Given the description of an element on the screen output the (x, y) to click on. 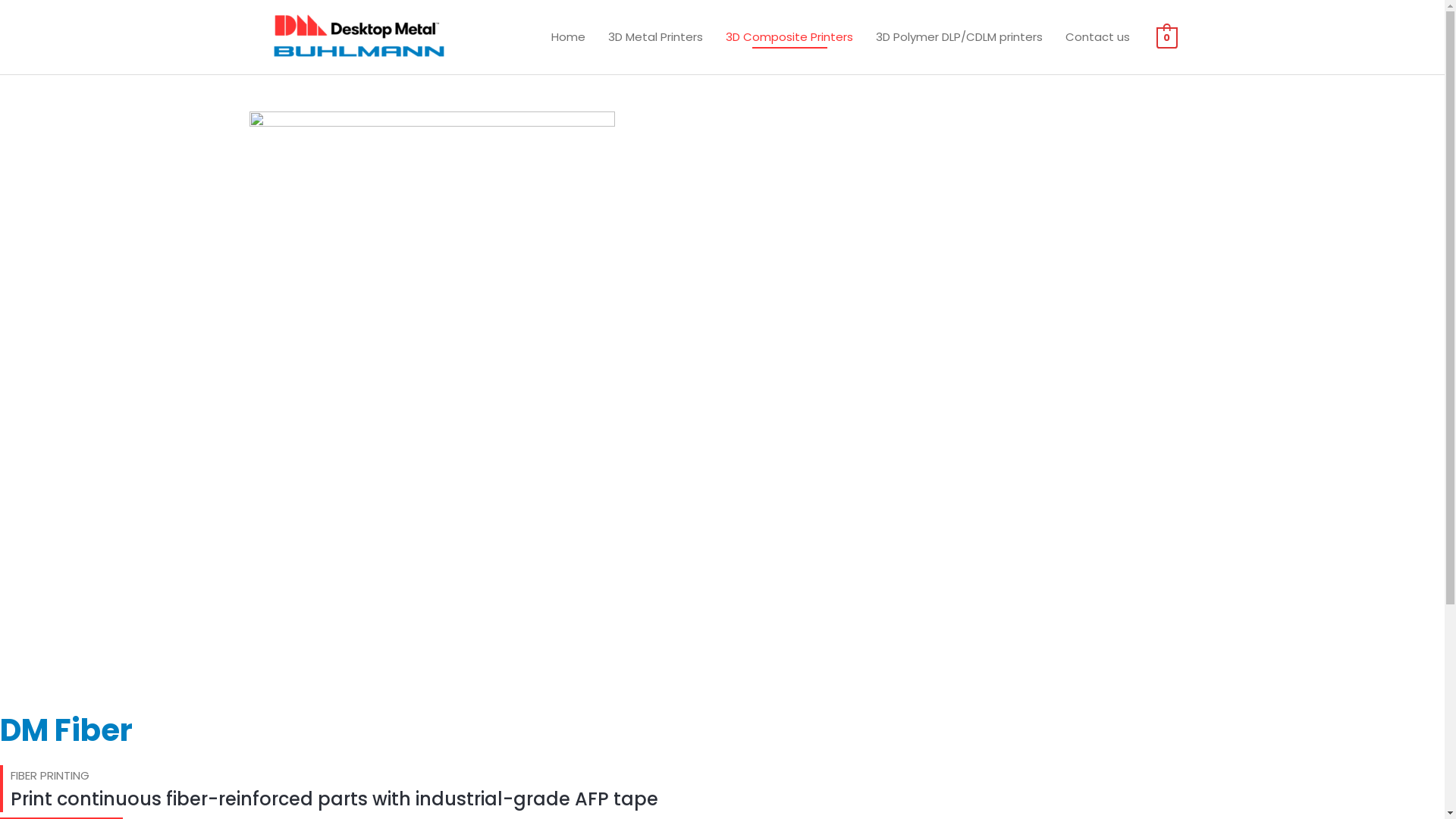
Home Element type: text (567, 36)
3D Metal Printers Element type: text (655, 36)
3D Composite Printers Element type: text (789, 36)
0 Element type: text (1166, 36)
3D Polymer DLP/CDLM printers Element type: text (959, 36)
Contact us Element type: text (1097, 36)
